Given the description of an element on the screen output the (x, y) to click on. 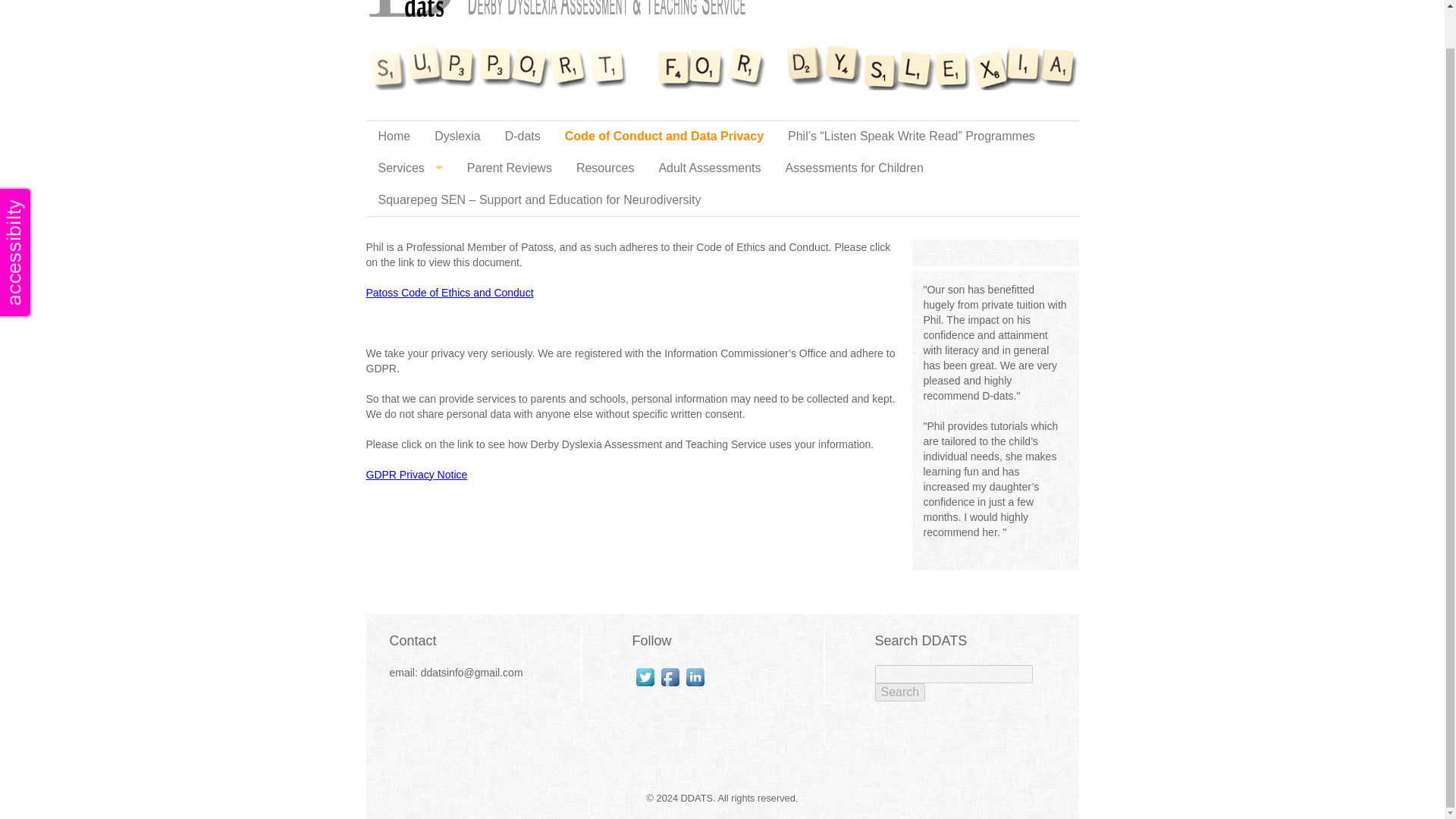
GDPR Privacy Notice (416, 473)
Parent Reviews (509, 168)
Patoss Code of Ethics and Conduct (448, 291)
Code of Conduct and Data Privacy (664, 136)
Visit Us On Twitter (644, 677)
Adult Assessments (709, 168)
Visit Us On Facebook (668, 677)
Search (900, 692)
Visit Us On Linkedin (694, 677)
Home (393, 136)
Dyslexia (457, 136)
Services (409, 168)
D-dats (523, 136)
Assessments for Children (854, 168)
Resources (605, 168)
